Given the description of an element on the screen output the (x, y) to click on. 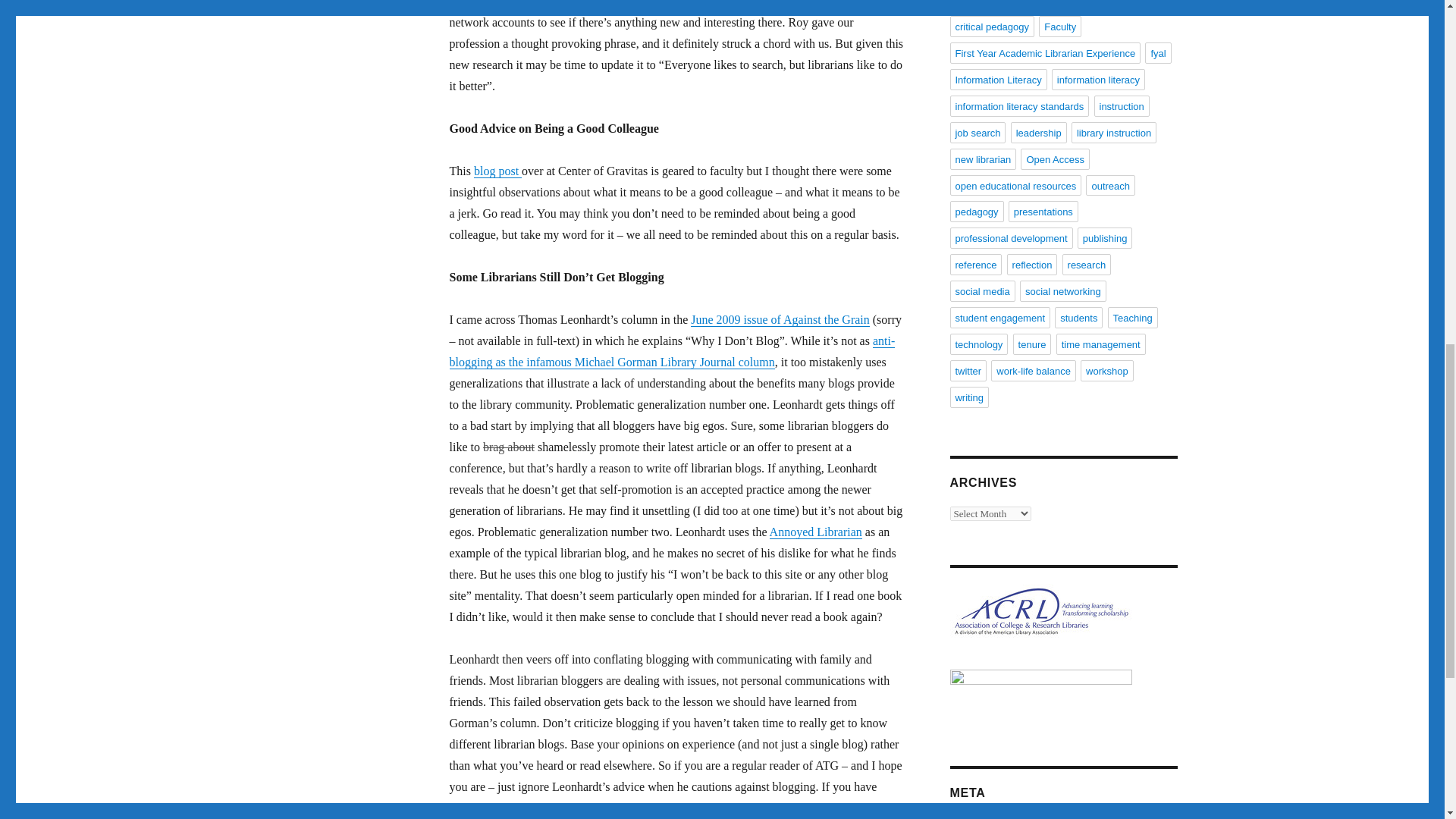
Annoyed Librarian (815, 531)
blog post (497, 170)
June 2009 issue of Against the Grain (779, 318)
